Given the description of an element on the screen output the (x, y) to click on. 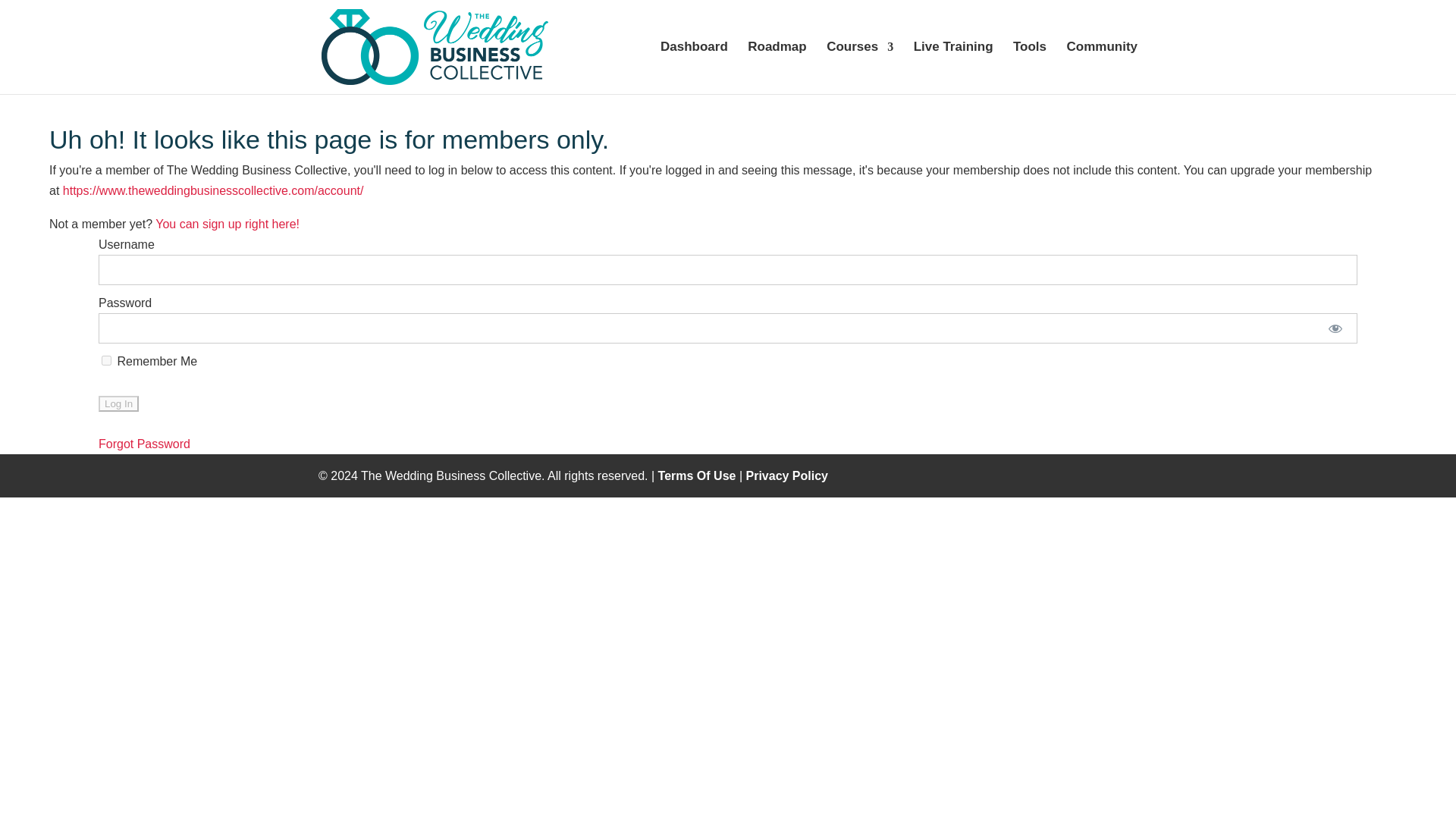
Terms Of Use (697, 475)
Dashboard (694, 67)
Roadmap (777, 67)
Log In (118, 403)
Community (1101, 67)
You can sign up right here! (227, 223)
Courses (860, 67)
Forgot Password (144, 443)
Live Training (953, 67)
forever (106, 360)
Log In (118, 403)
Privacy Policy (786, 475)
